Given the description of an element on the screen output the (x, y) to click on. 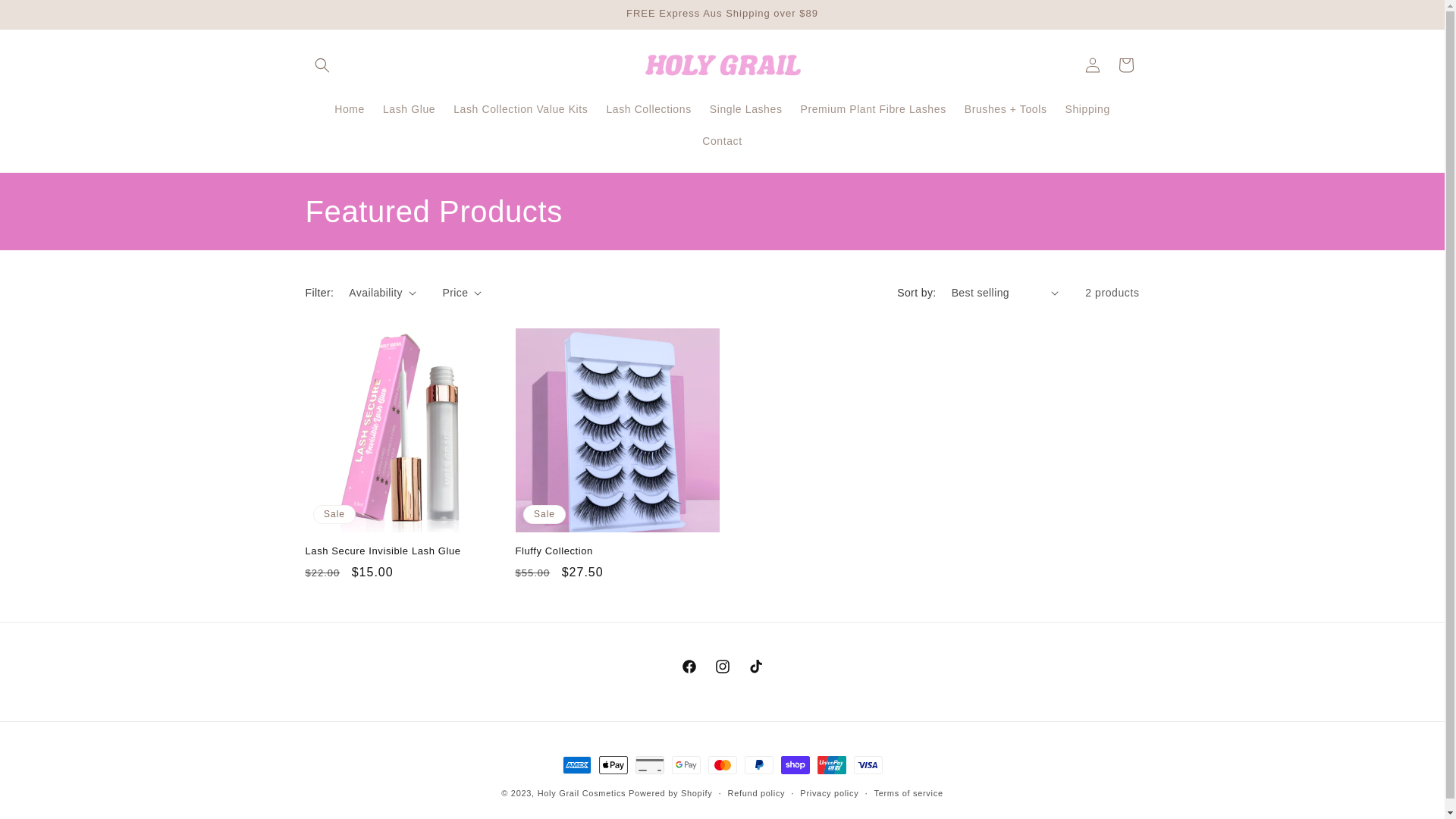
Instagram Element type: text (721, 666)
Privacy policy Element type: text (829, 793)
Refund policy Element type: text (756, 793)
TikTok Element type: text (754, 666)
Lash Collections Element type: text (647, 108)
Single Lashes Element type: text (745, 108)
Premium Plant Fibre Lashes Element type: text (873, 108)
Holy Grail Cosmetics Element type: text (582, 792)
Lash Collection Value Kits Element type: text (520, 108)
Shipping Element type: text (1086, 108)
Facebook Element type: text (688, 666)
Contact Element type: text (721, 140)
Lash Glue Element type: text (408, 108)
Lash Secure Invisible Lash Glue Element type: text (406, 551)
Log in Element type: text (1091, 64)
Powered by Shopify Element type: text (670, 792)
Terms of service Element type: text (907, 793)
Brushes + Tools Element type: text (1005, 108)
Cart Element type: text (1125, 64)
Fluffy Collection Element type: text (617, 551)
Home Element type: text (349, 108)
